Given the description of an element on the screen output the (x, y) to click on. 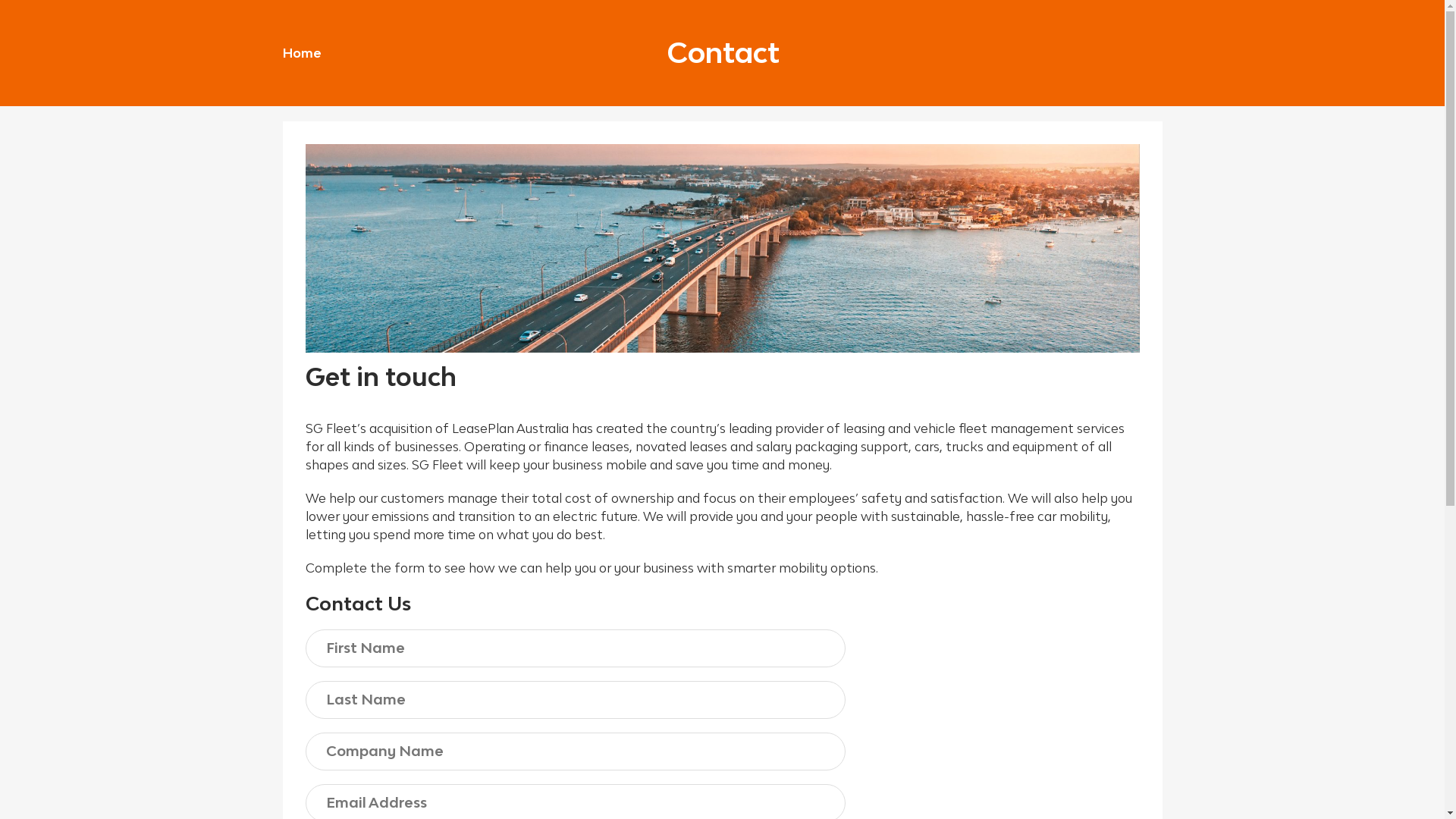
Home Element type: text (301, 52)
